Given the description of an element on the screen output the (x, y) to click on. 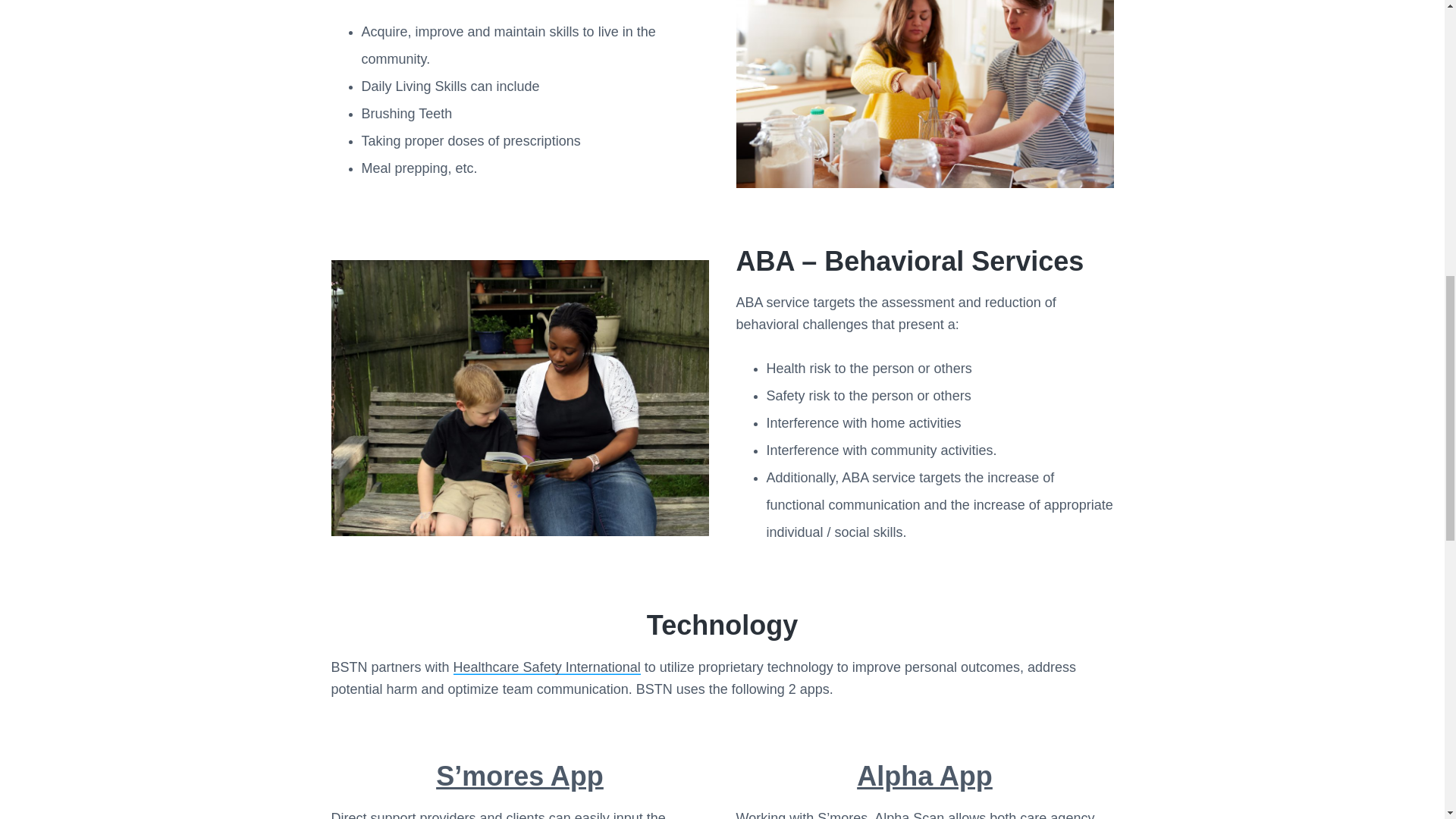
Healthcare Safety International (546, 667)
Alpha App (924, 775)
